Given the description of an element on the screen output the (x, y) to click on. 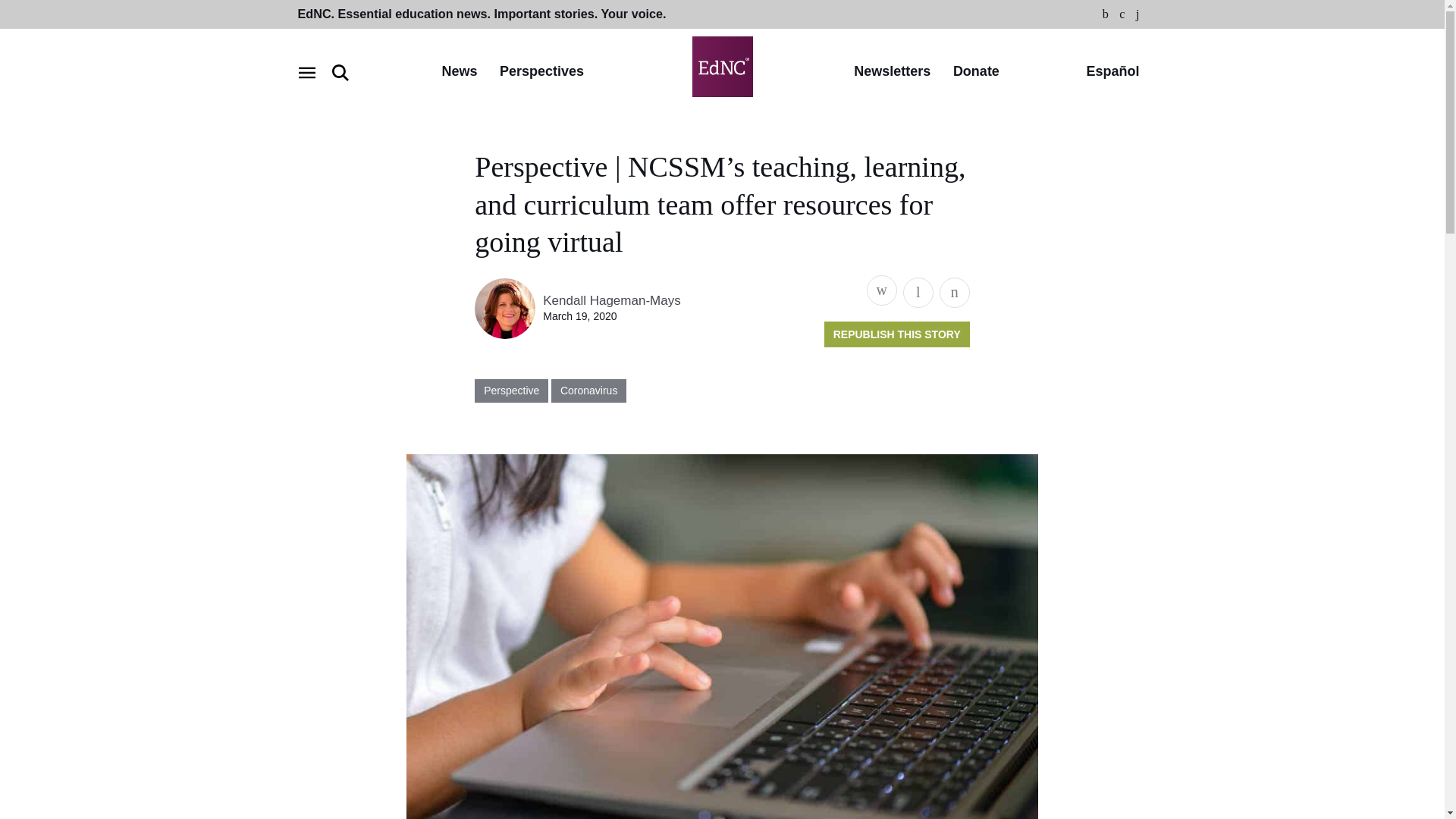
Open navigation (306, 72)
News (459, 71)
Kendall Hageman-Mays (611, 300)
Perspectives (541, 71)
Donate (975, 71)
Facebook (1105, 13)
Share this page (881, 290)
Newsletters (891, 71)
Instagram (1137, 13)
Twitter (1121, 13)
